Given the description of an element on the screen output the (x, y) to click on. 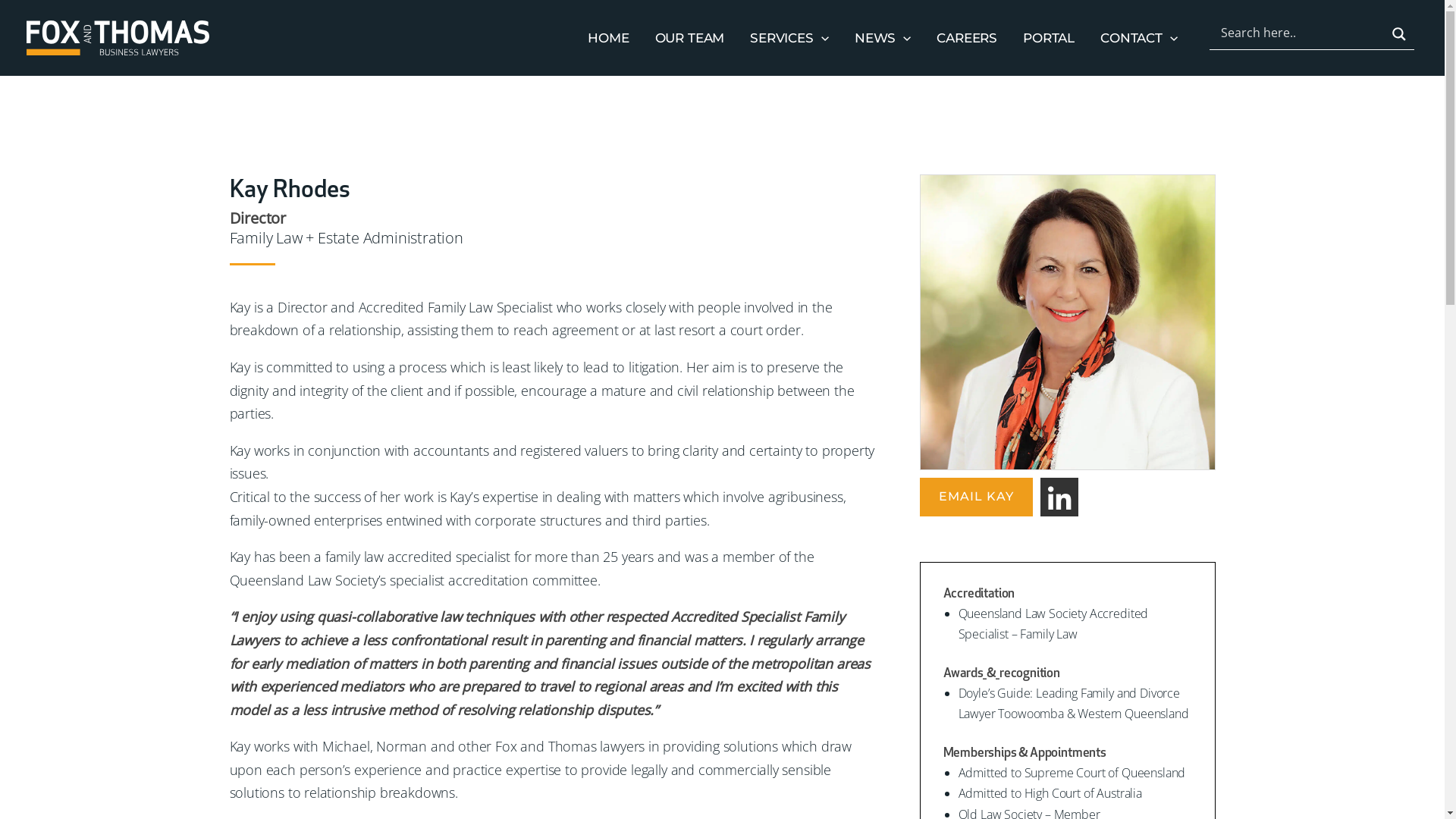
CONTACT Element type: text (1138, 37)
SERVICES Element type: text (789, 37)
HOME Element type: text (607, 37)
CAREERS Element type: text (966, 37)
PORTAL Element type: text (1048, 37)
NEWS Element type: text (882, 37)
OUR TEAM Element type: text (689, 37)
EMAIL KAY Element type: text (975, 496)
